Given the description of an element on the screen output the (x, y) to click on. 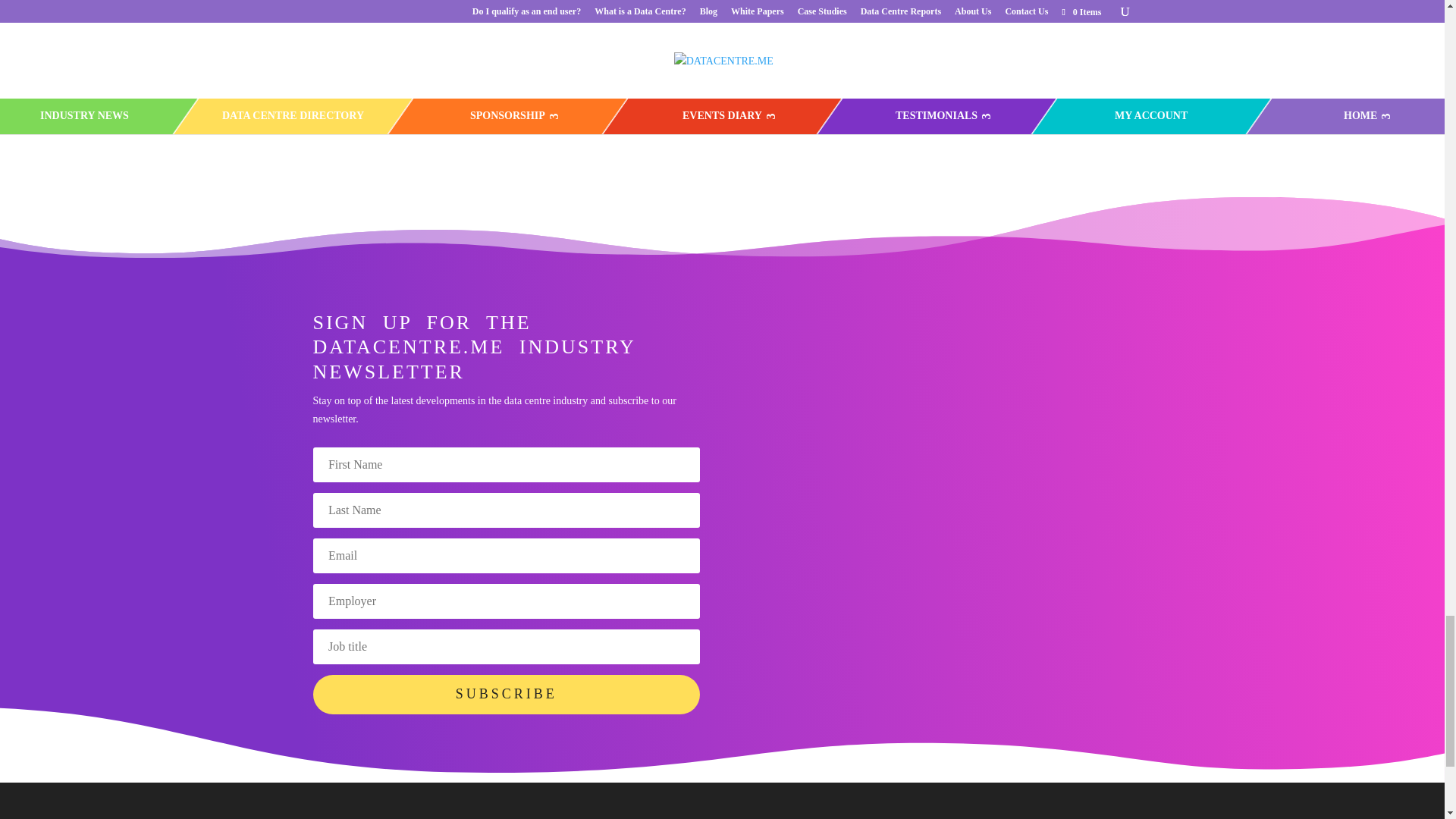
SUBSCRIBE (505, 694)
Privacy Policy (931, 8)
